Given the description of an element on the screen output the (x, y) to click on. 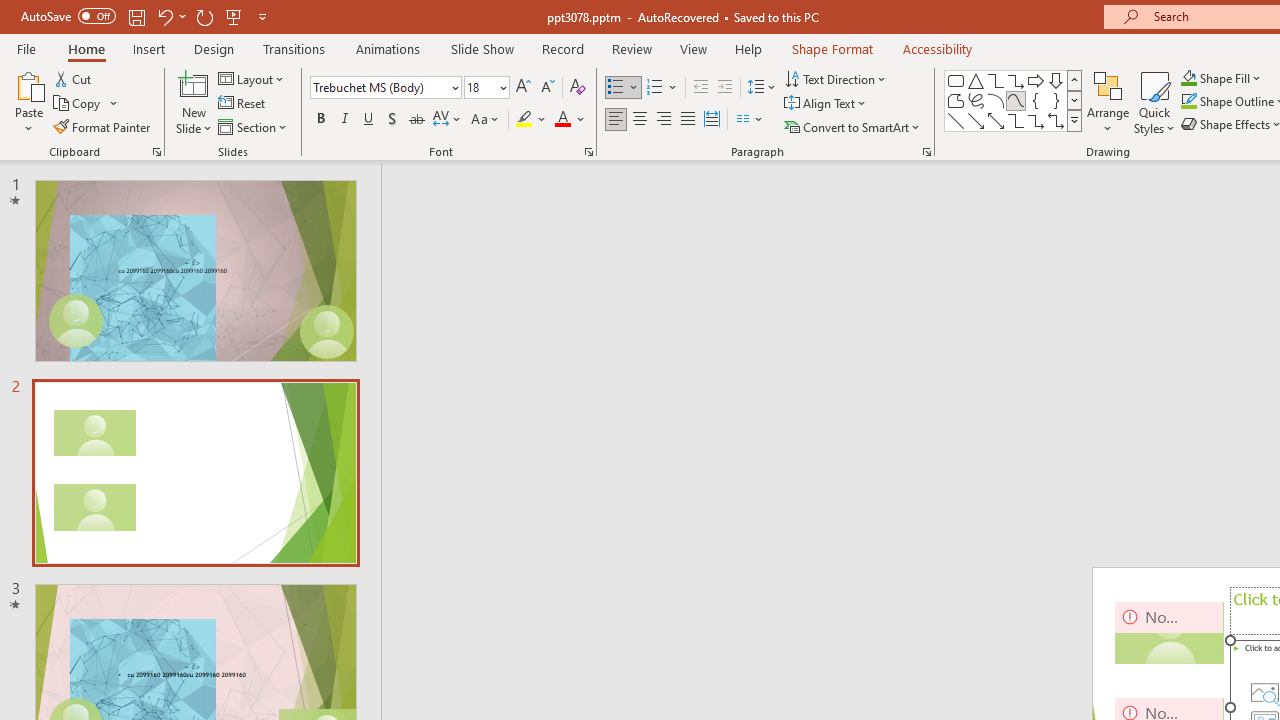
Connector: Elbow Double-Arrow (1055, 120)
